Given the description of an element on the screen output the (x, y) to click on. 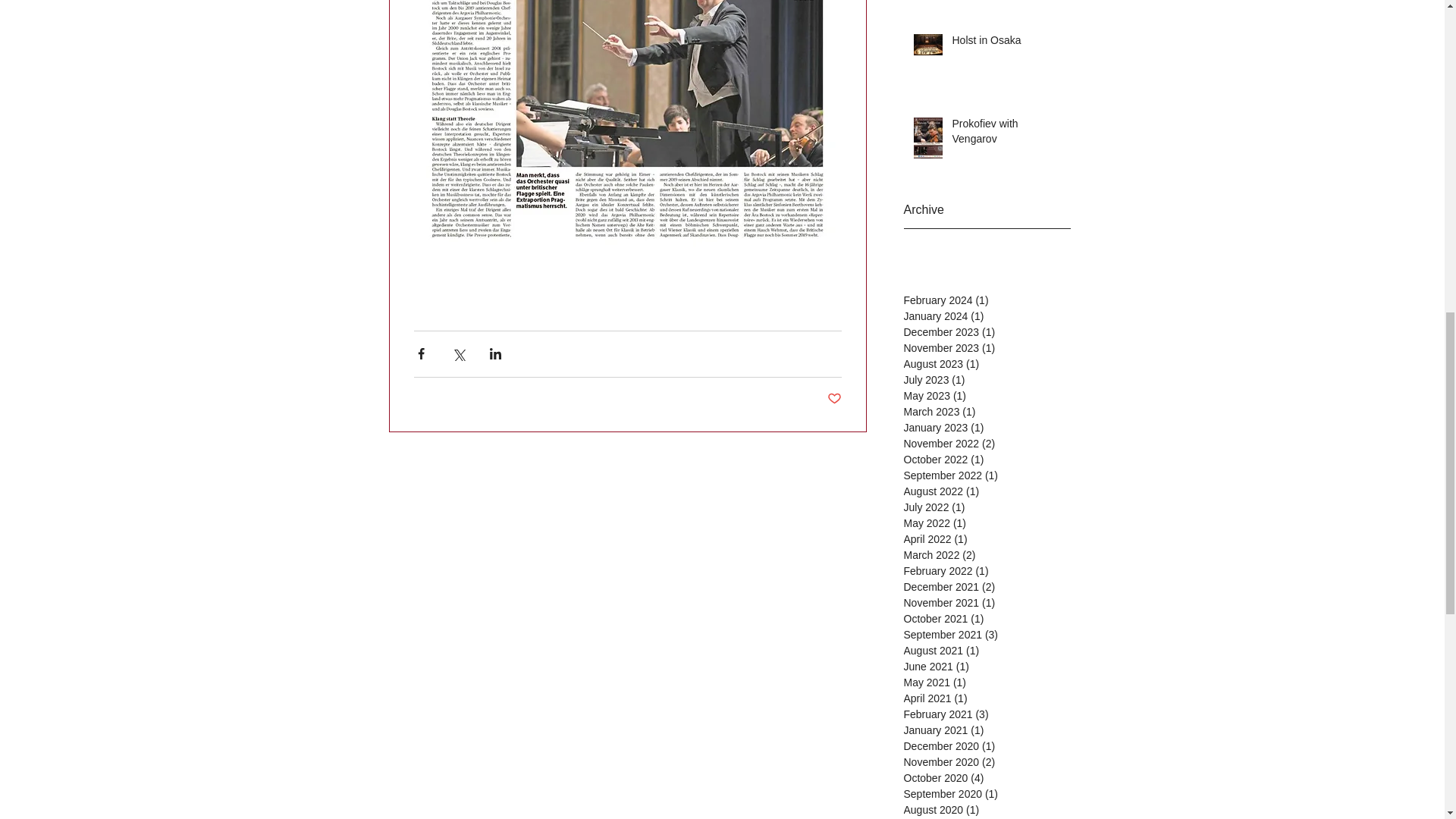
Holst in Osaka (1006, 43)
Post not marked as liked (834, 399)
Prokofiev with Vengarov (1006, 134)
